Given the description of an element on the screen output the (x, y) to click on. 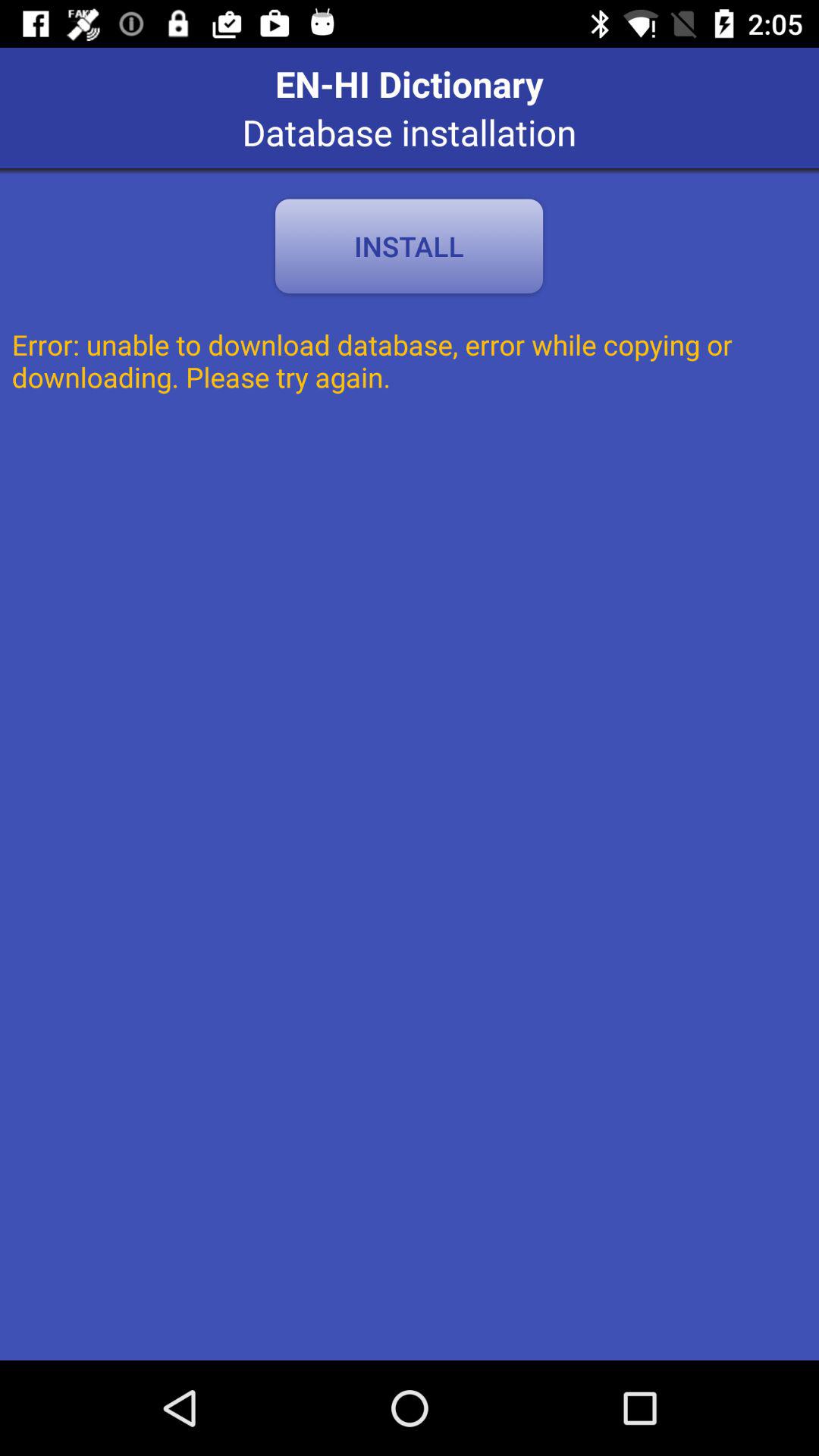
click the item above the error unable to app (408, 246)
